Given the description of an element on the screen output the (x, y) to click on. 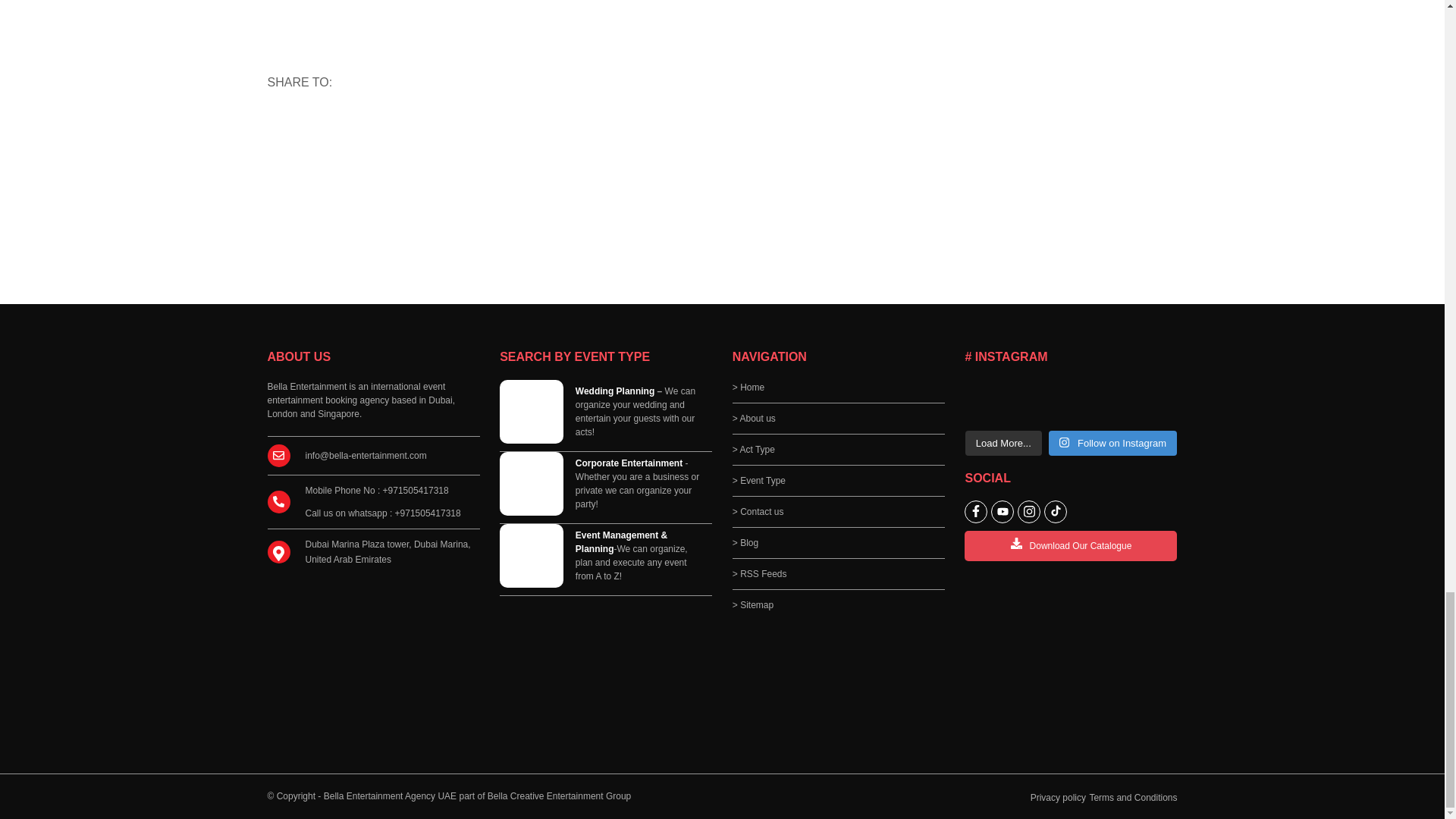
Twitter (352, 124)
Follow by Email (284, 124)
Facebook (319, 124)
WhatsApp (387, 124)
